Given the description of an element on the screen output the (x, y) to click on. 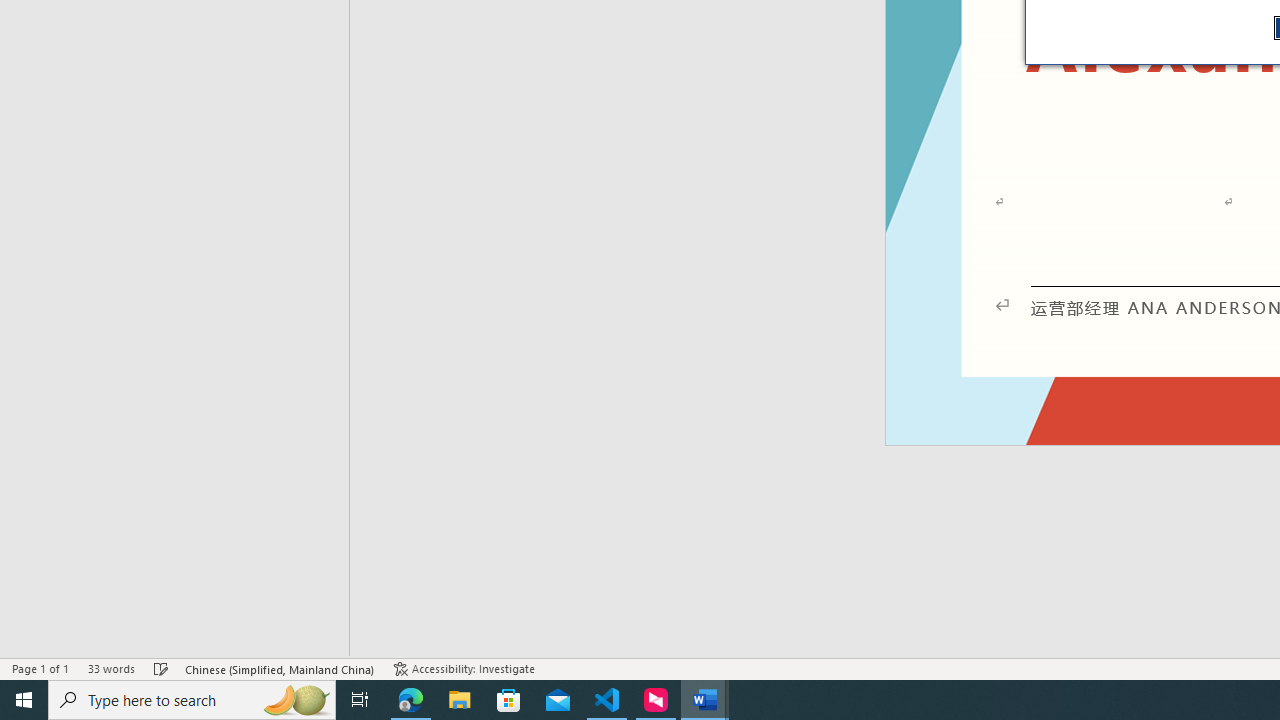
Type here to search (191, 699)
Word - 2 running windows (704, 699)
File Explorer (460, 699)
Search highlights icon opens search home window (295, 699)
Microsoft Store (509, 699)
Spelling and Grammar Check Checking (161, 668)
Microsoft Edge - 1 running window (411, 699)
Language Chinese (Simplified, Mainland China) (279, 668)
Page Number Page 1 of 1 (39, 668)
Visual Studio Code - 1 running window (607, 699)
Accessibility Checker Accessibility: Investigate (464, 668)
Start (24, 699)
